Given the description of an element on the screen output the (x, y) to click on. 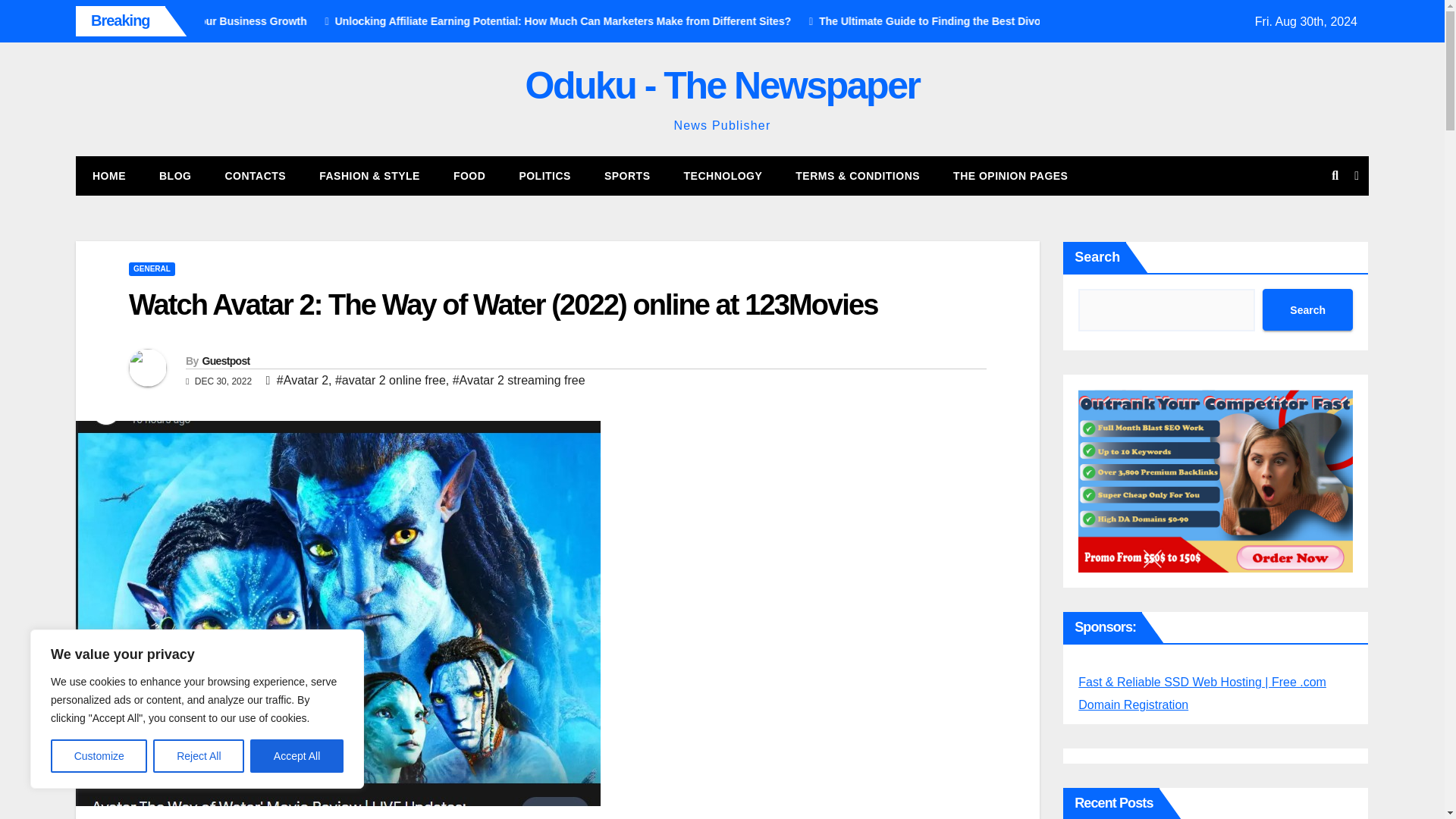
FOOD (469, 175)
Reject All (198, 756)
Oduku - The Newspaper (722, 85)
SPORTS (627, 175)
HOME (108, 175)
POLITICS (545, 175)
Top 5 Reasons to Hire a Freelancer for Your Business Growth (330, 21)
CONTACTS (255, 175)
Accept All (296, 756)
